Given the description of an element on the screen output the (x, y) to click on. 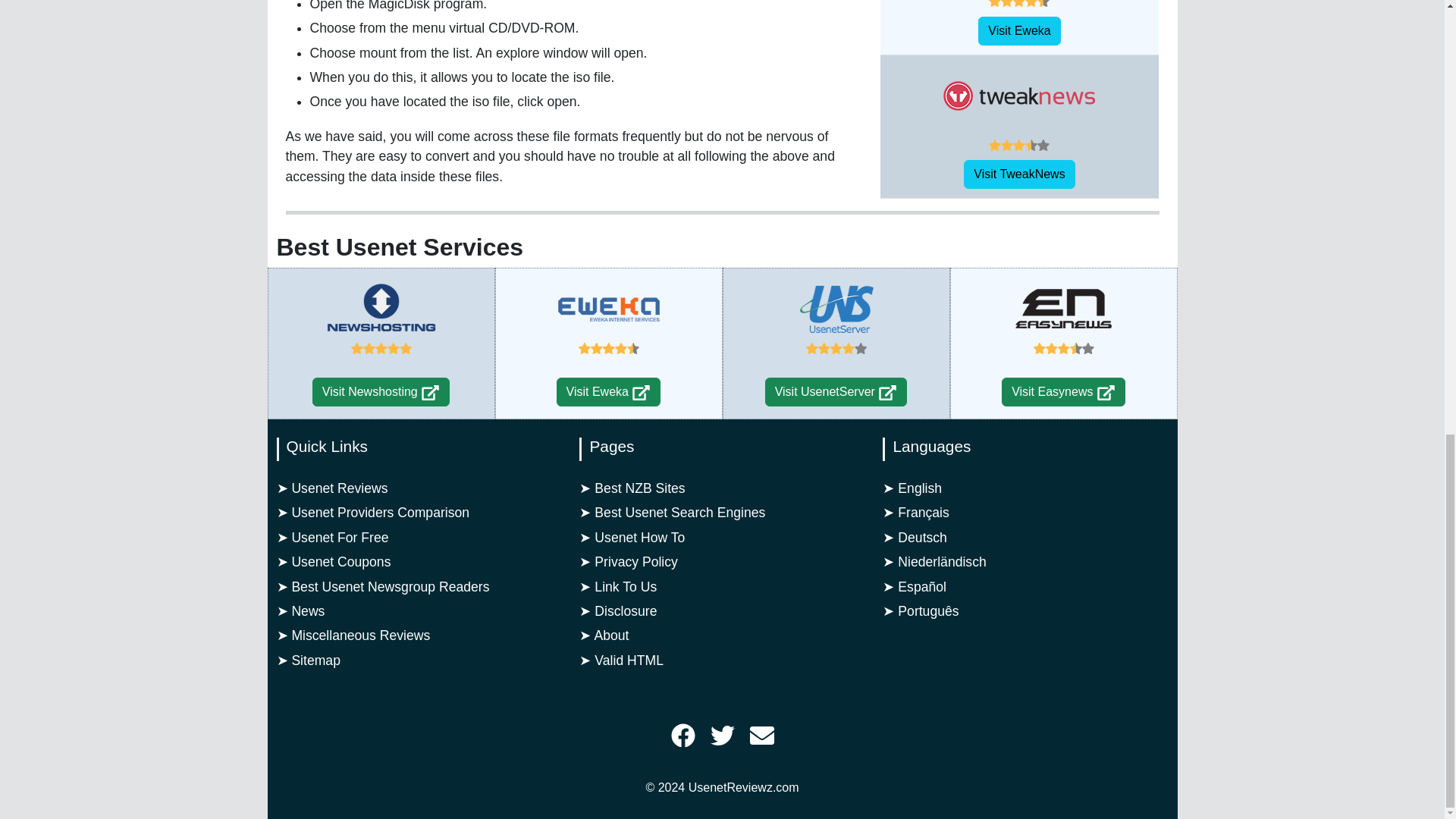
Easynews (1064, 308)
Visit UsenetServer (836, 391)
Best Usenet Services (399, 247)
Visit Newshosting (429, 392)
Visit Eweka (640, 392)
Visit UsenetServer (886, 392)
Eweka (608, 308)
Visit Easynews (1105, 392)
Visit Newshosting (381, 391)
Newshosting (381, 308)
UsenetServer (835, 308)
Visit Easynews (1063, 391)
Visit Eweka (608, 391)
